Given the description of an element on the screen output the (x, y) to click on. 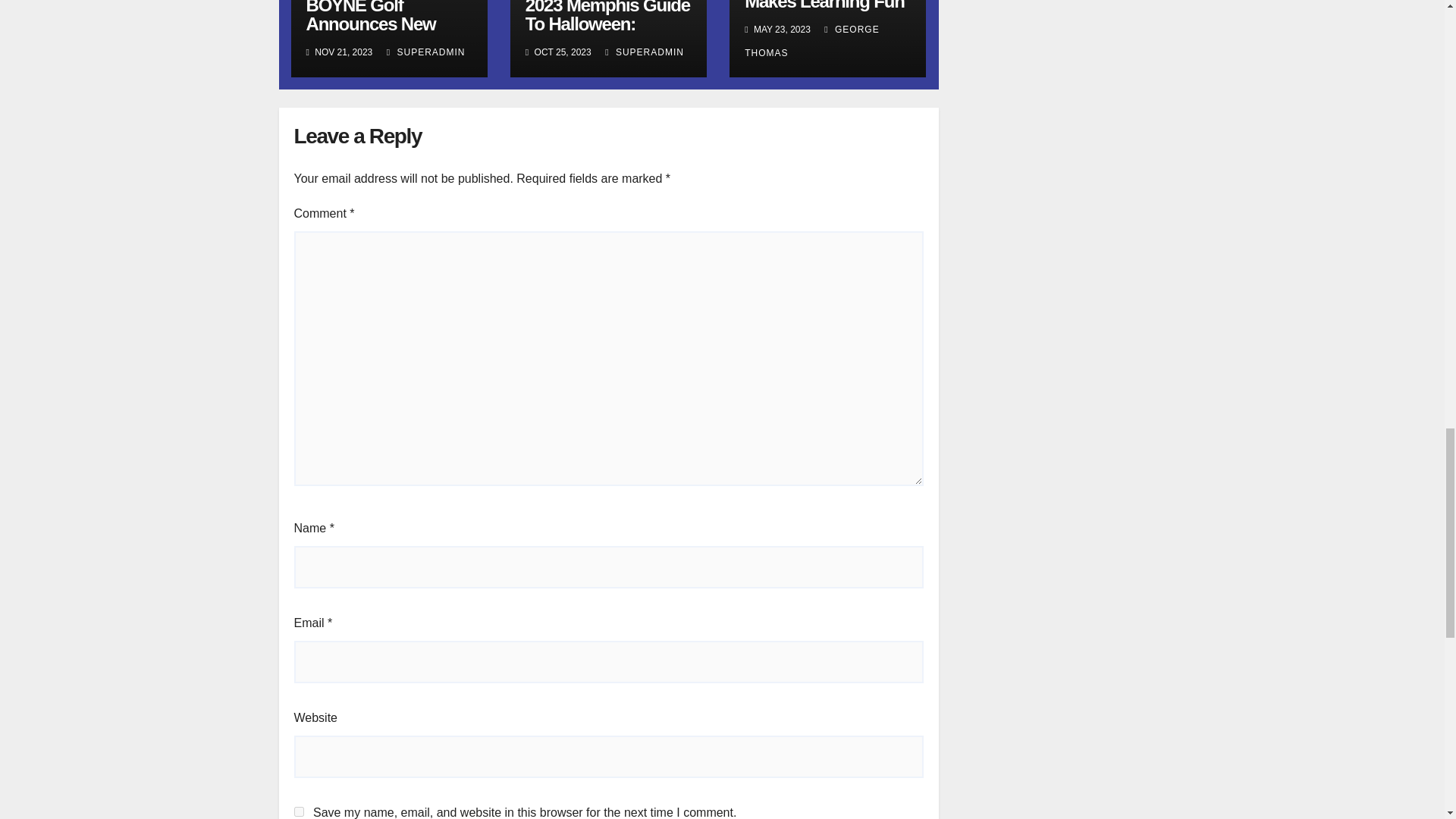
yes (299, 811)
